Given the description of an element on the screen output the (x, y) to click on. 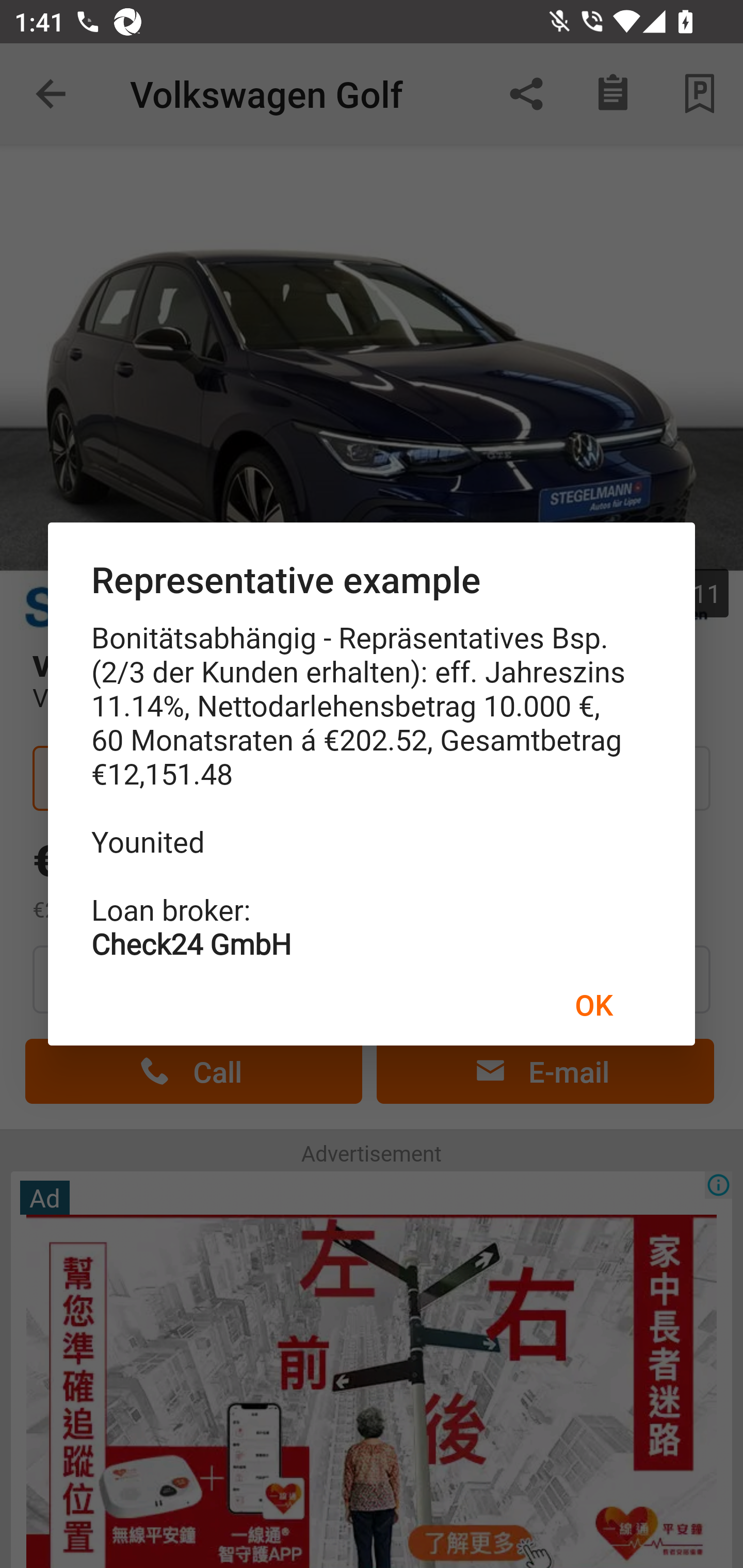
OK (593, 1004)
